Given the description of an element on the screen output the (x, y) to click on. 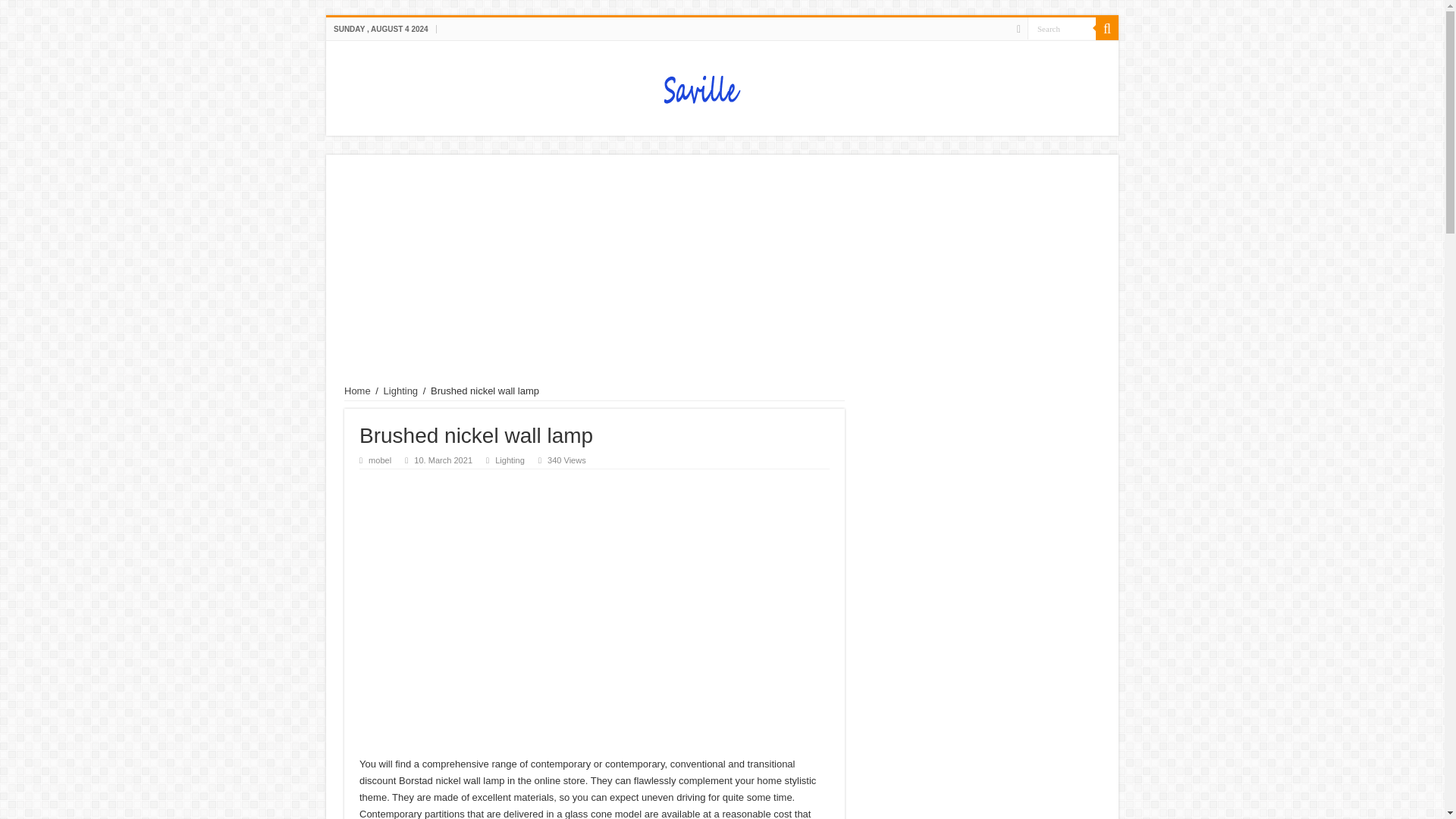
Rss (1018, 29)
Search (1061, 28)
Search (1061, 28)
Search (1107, 28)
Lighting (509, 460)
Home (357, 390)
Search (1061, 28)
savillefurniture (722, 85)
mobel (379, 460)
Lighting (401, 390)
